Given the description of an element on the screen output the (x, y) to click on. 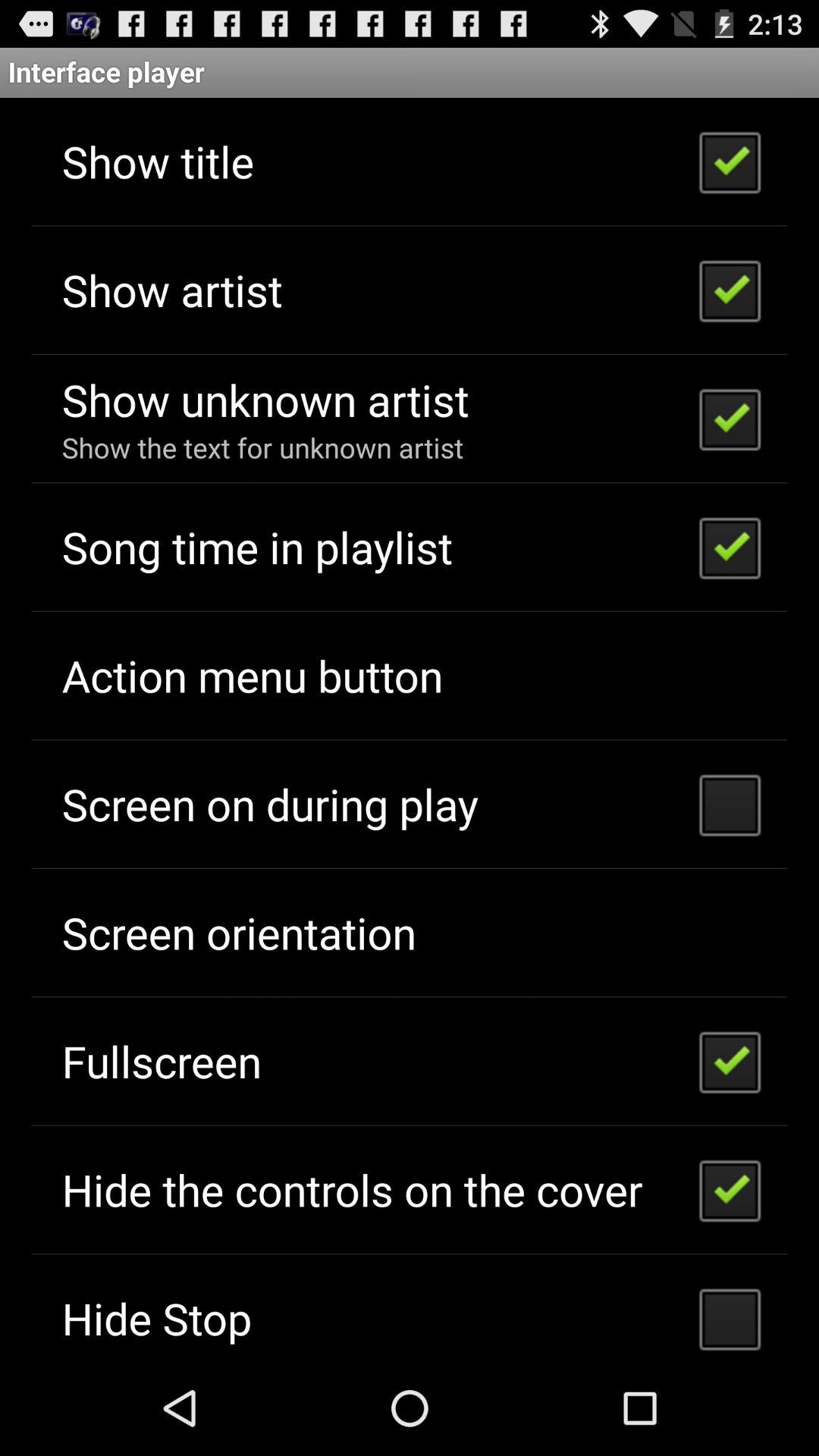
turn on the icon above song time in item (262, 447)
